Given the description of an element on the screen output the (x, y) to click on. 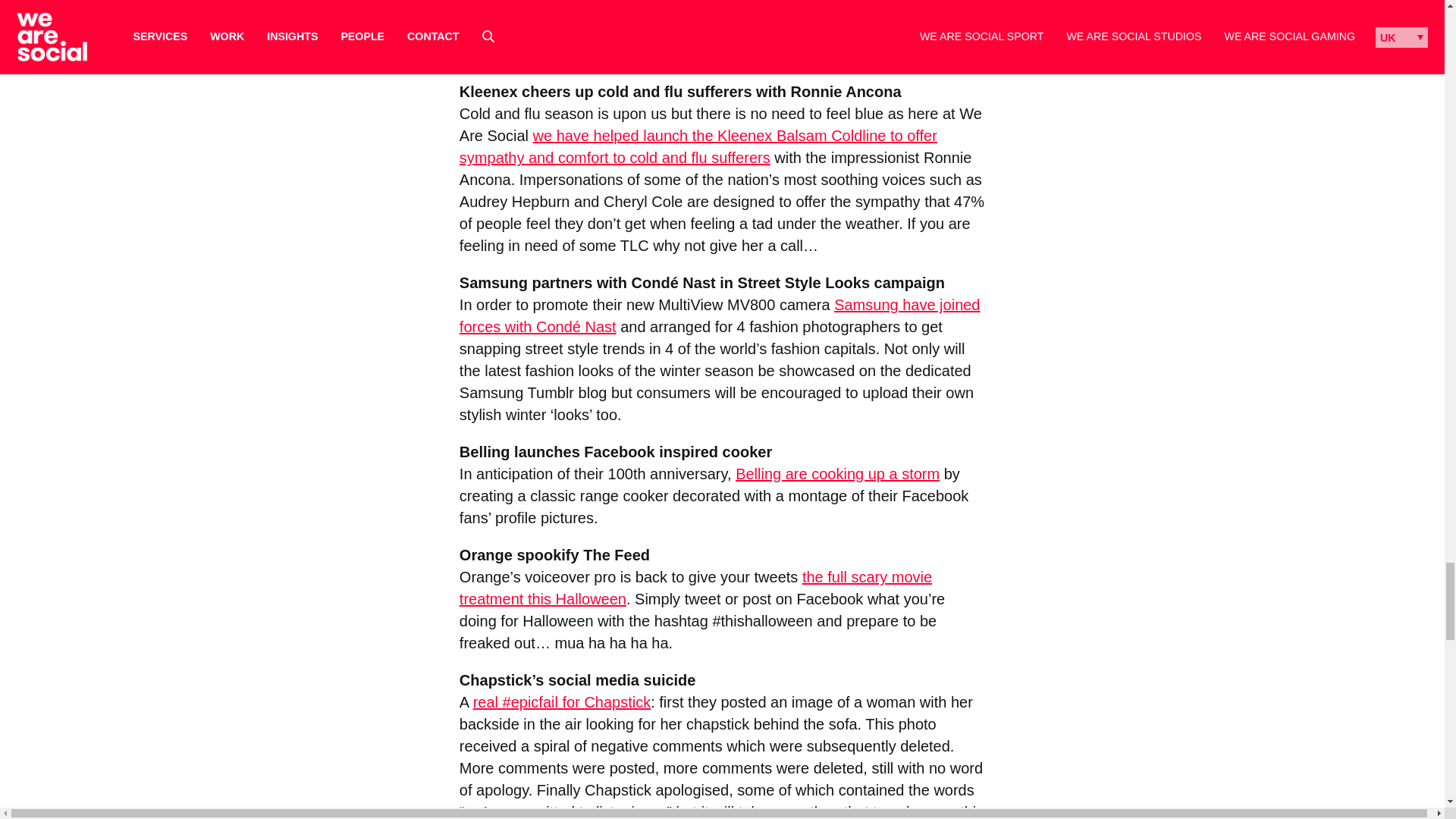
Belling are cooking up a storm (837, 474)
the full scary movie treatment this Halloween (695, 587)
